Given the description of an element on the screen output the (x, y) to click on. 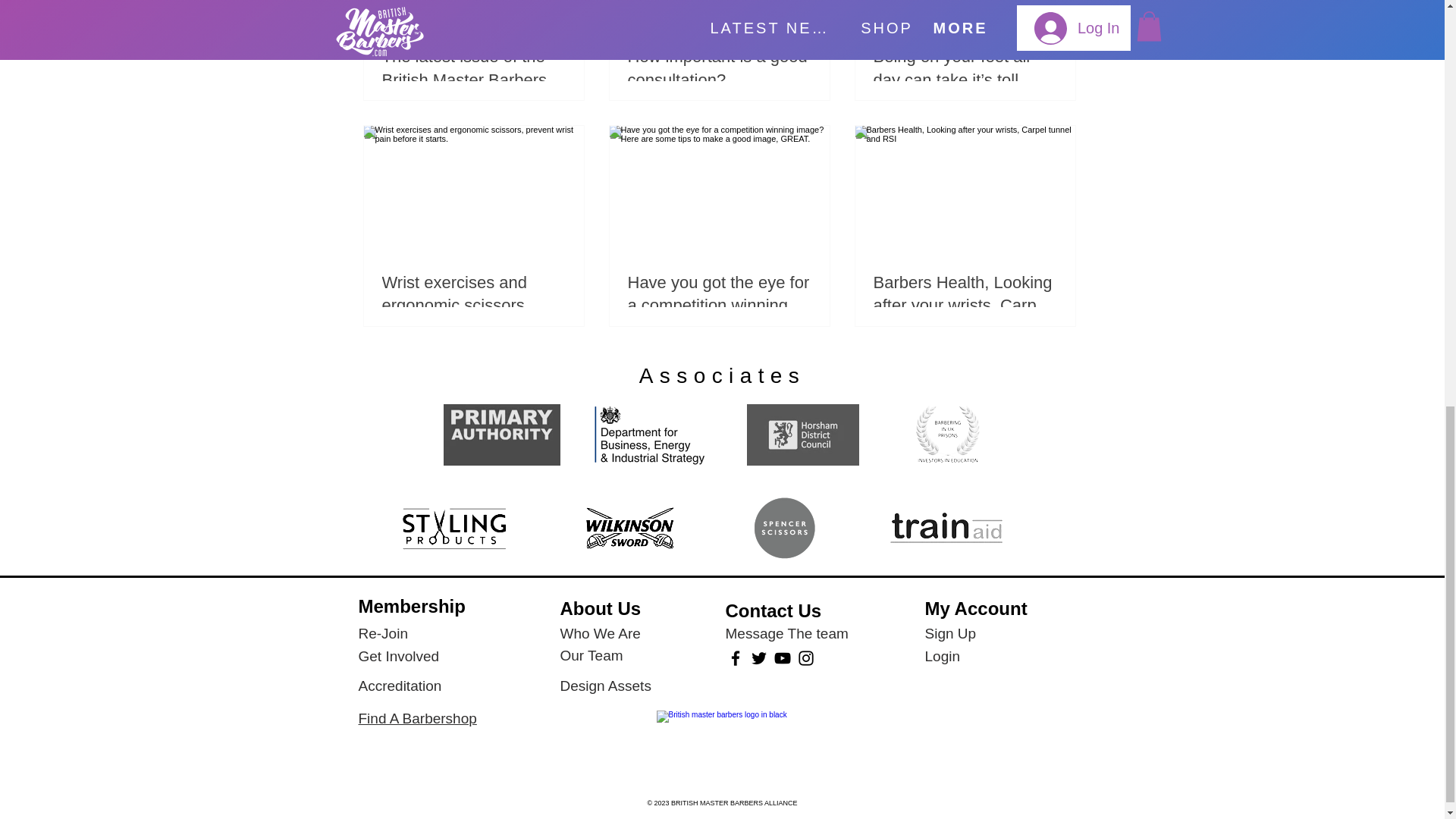
Message The team (786, 632)
Find A Barbershop (417, 717)
Our Team (591, 655)
Get Involved (398, 655)
Re-Join (382, 632)
Who We Are (599, 632)
british-masters-logo-black.png (721, 746)
